Given the description of an element on the screen output the (x, y) to click on. 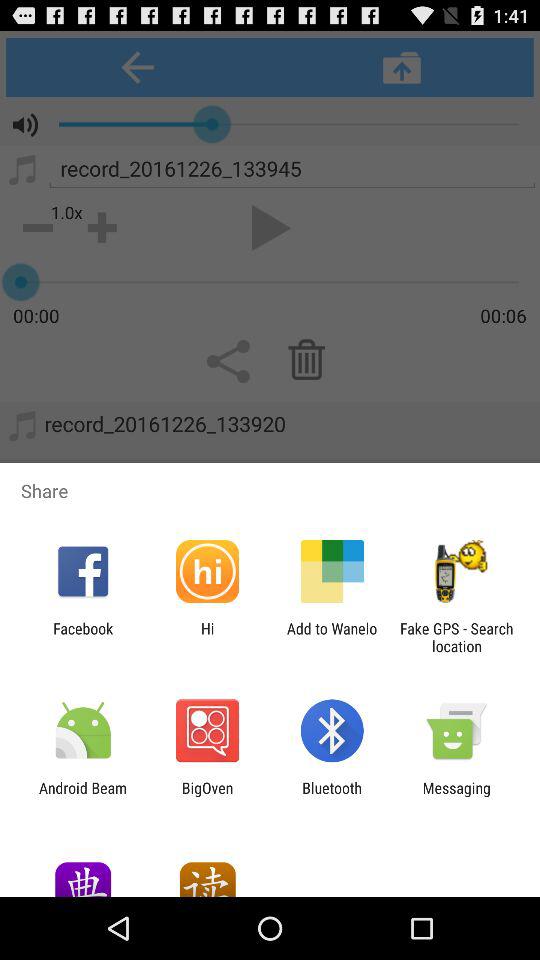
tap the app to the right of the android beam app (207, 796)
